Given the description of an element on the screen output the (x, y) to click on. 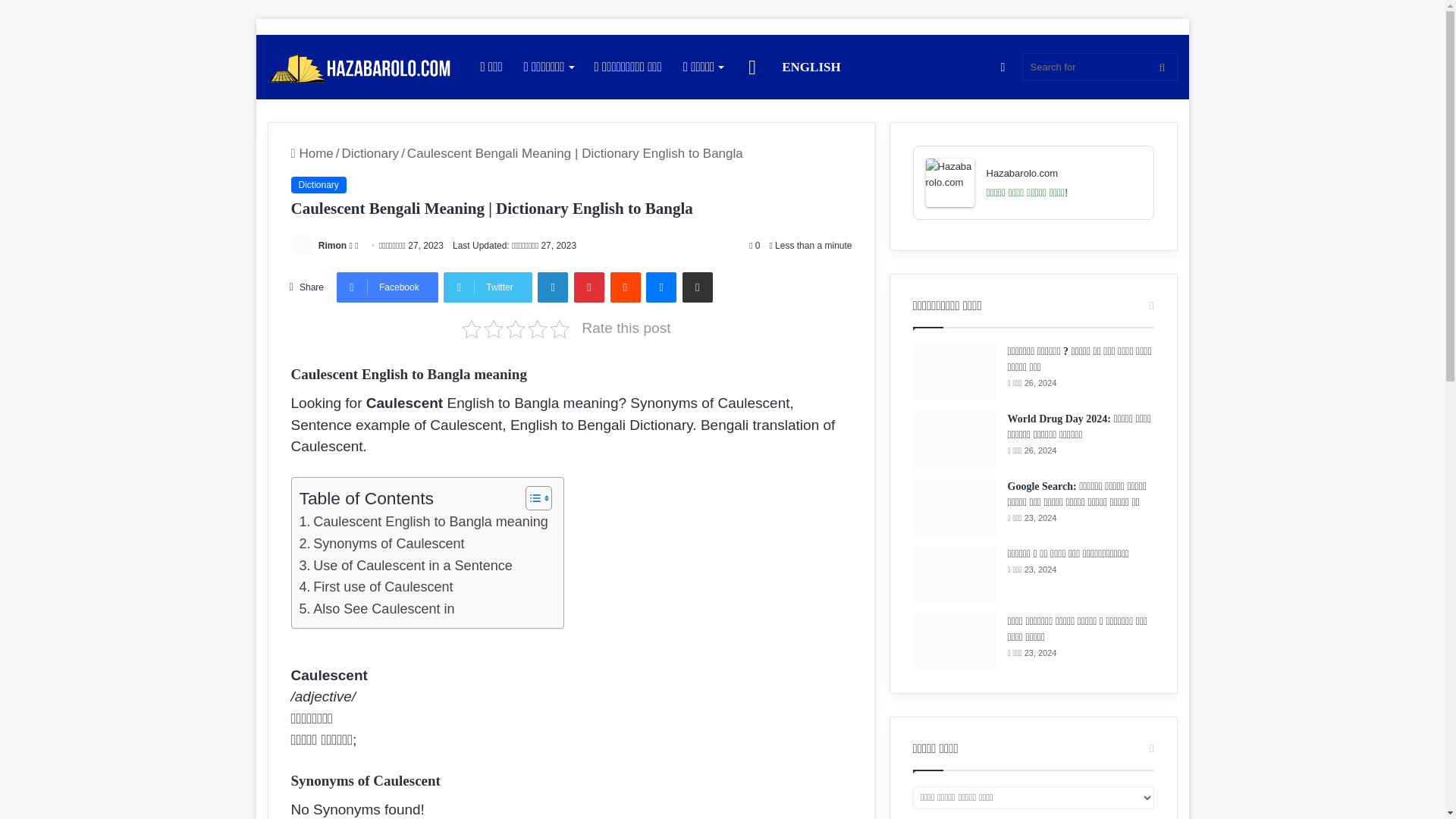
LinkedIn (552, 286)
Pinterest (588, 286)
Reddit (625, 286)
Search for (1099, 67)
Twitter (487, 286)
Facebook (387, 286)
Rimon (332, 245)
Messenger (661, 286)
Hazabarolo.com (357, 66)
